Given the description of an element on the screen output the (x, y) to click on. 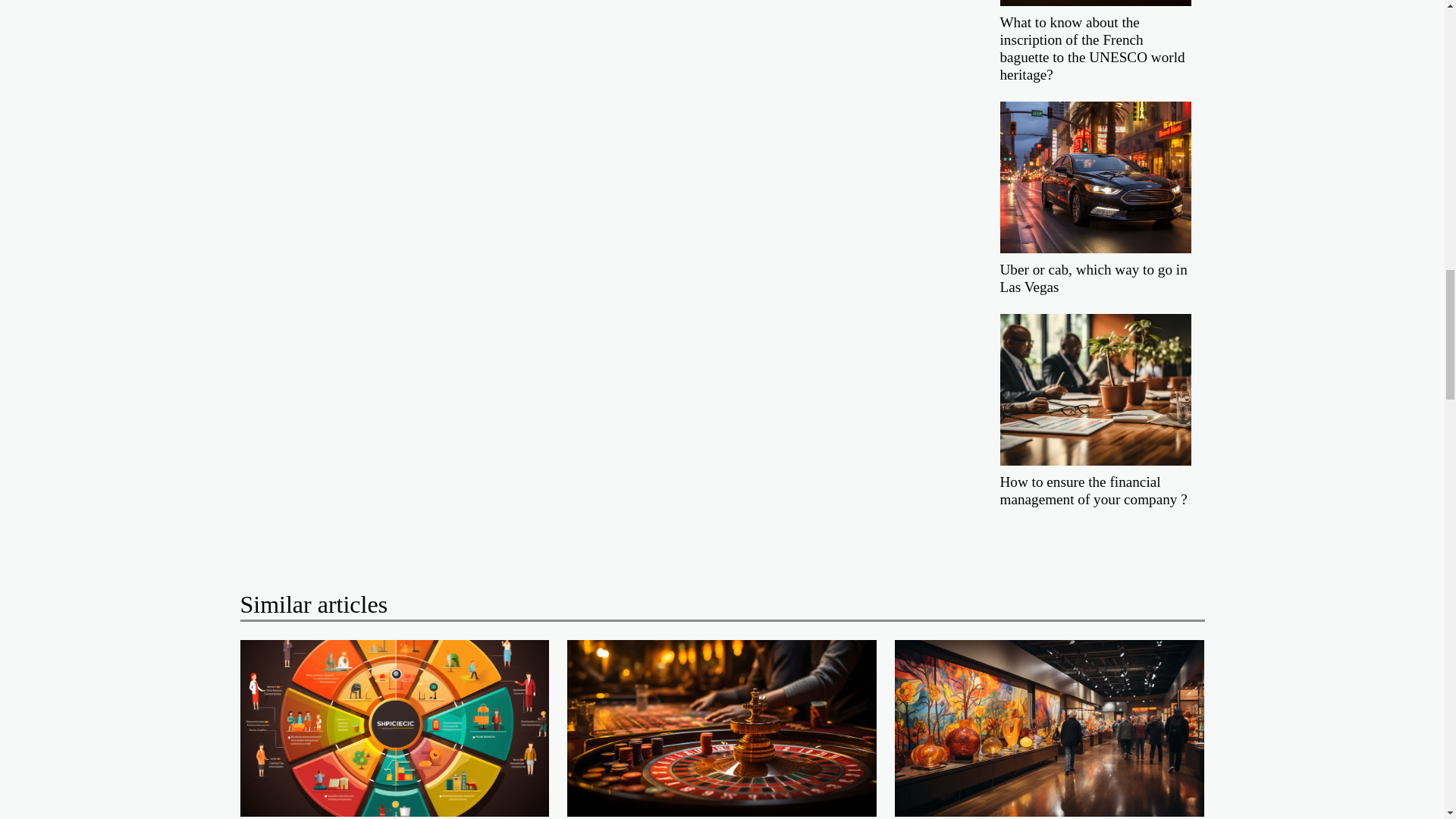
Why is it important to visit an art mall ? (1049, 727)
Uber or cab, which way to go in Las Vegas (1092, 277)
How to ensure the financial management of your company ? (1094, 389)
Different types of clinical research (394, 727)
The best casino in cyprus (721, 727)
Uber or cab, which way to go in Las Vegas (1094, 176)
How to ensure the financial management of your company ? (1092, 490)
Uber or cab, which way to go in Las Vegas (1092, 277)
How to ensure the financial management of your company ? (1092, 490)
